Given the description of an element on the screen output the (x, y) to click on. 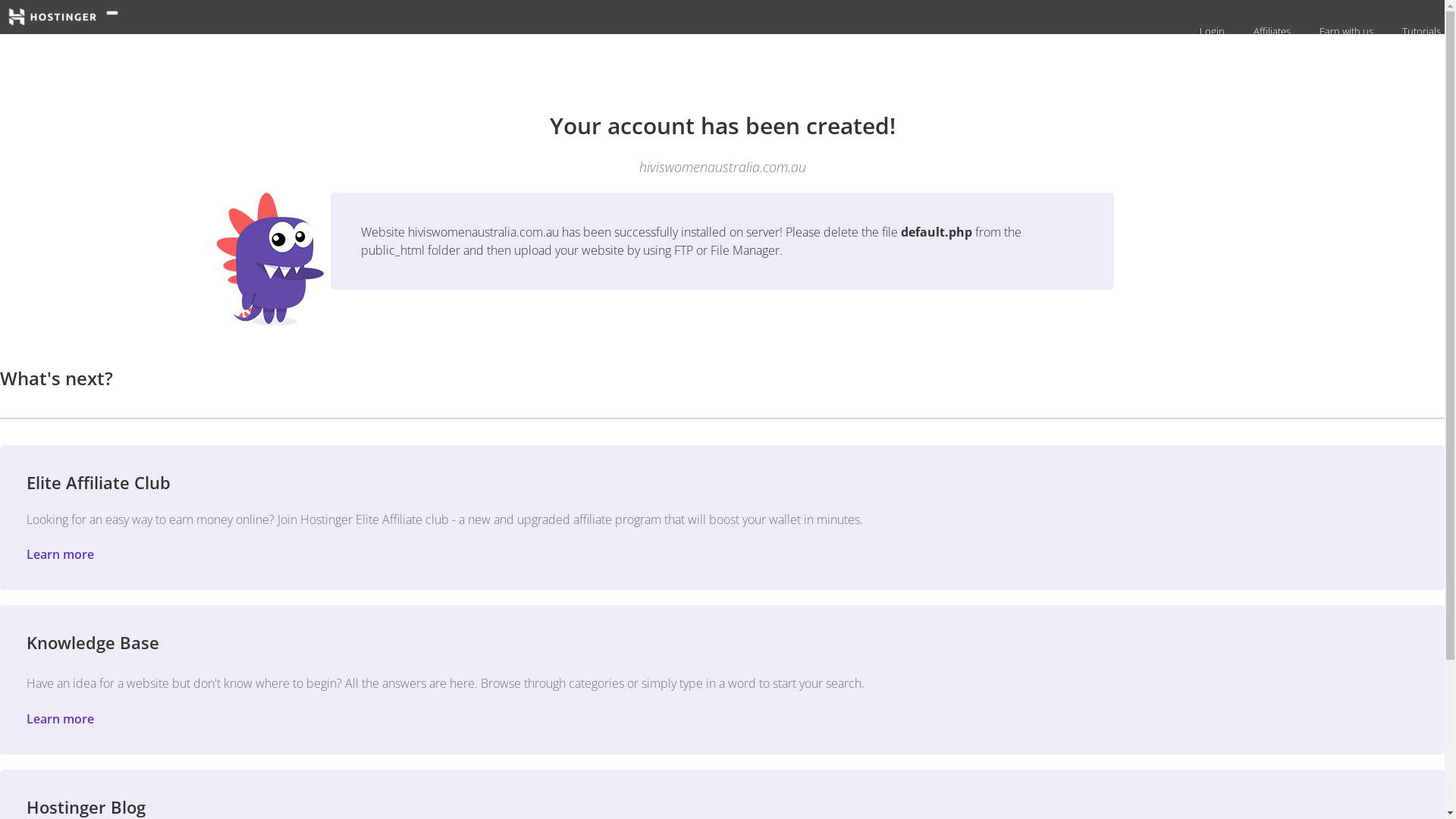
Tutorials Element type: text (1419, 30)
Login Element type: text (1210, 30)
Learn more Element type: text (60, 554)
Affiliates Element type: text (1269, 30)
Earn with us Element type: text (1344, 30)
Learn more Element type: text (60, 718)
